Given the description of an element on the screen output the (x, y) to click on. 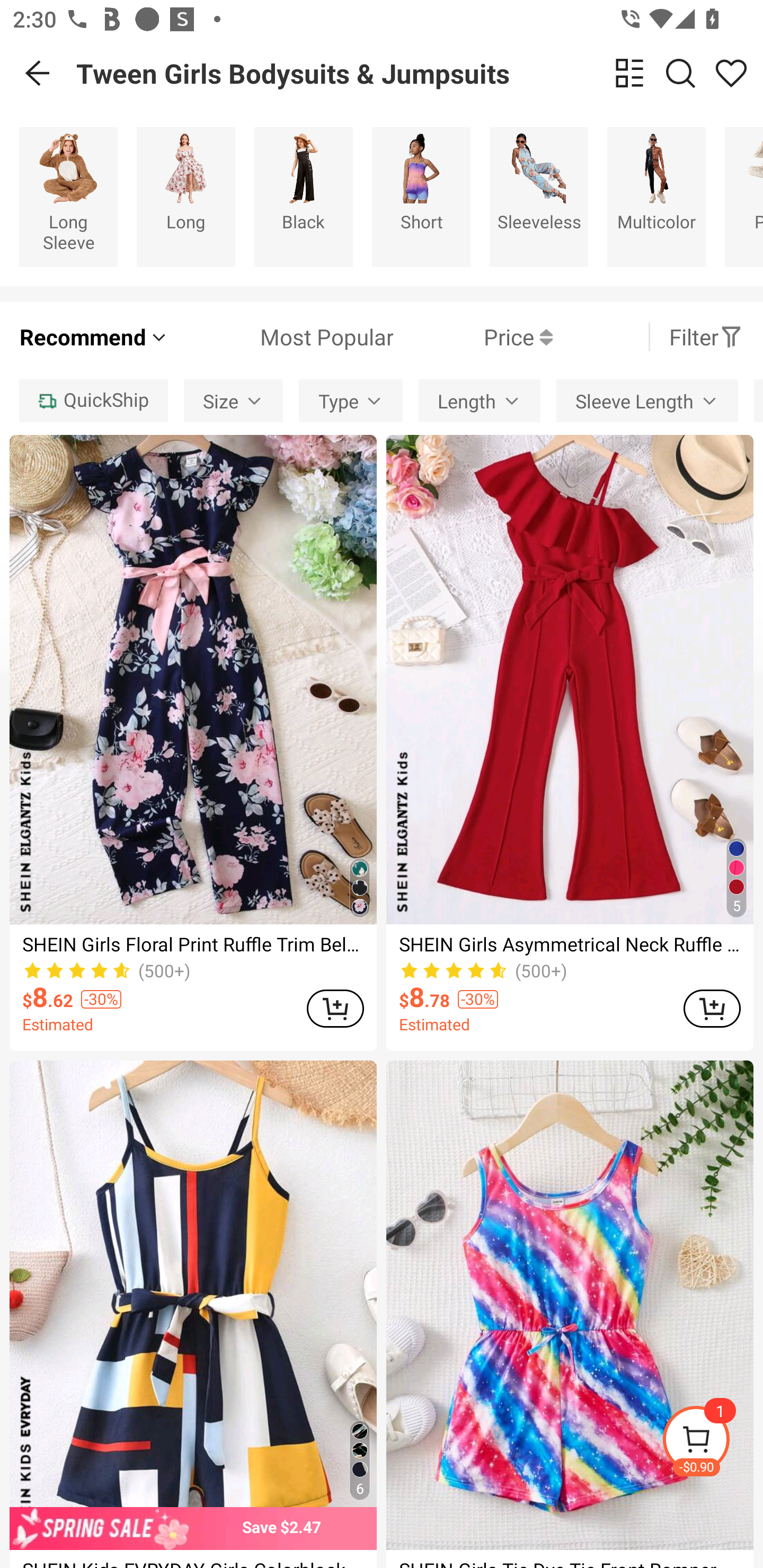
change view (629, 72)
Search (679, 72)
Share (730, 72)
Long Sleeve (68, 196)
Long (185, 196)
Black (303, 196)
Short (421, 196)
Sleeveless (538, 196)
Multicolor (656, 196)
Recommend (94, 336)
Most Popular (280, 336)
Price (472, 336)
Filter (705, 336)
QuickShip (93, 400)
Size (233, 400)
Type (350, 400)
Length (479, 400)
Sleeve Length (646, 400)
ADD TO CART (334, 1008)
ADD TO CART (711, 1008)
SHEIN Girls Tie Dye Tie Front Romper (569, 1313)
-$0.90 (712, 1441)
